Given the description of an element on the screen output the (x, y) to click on. 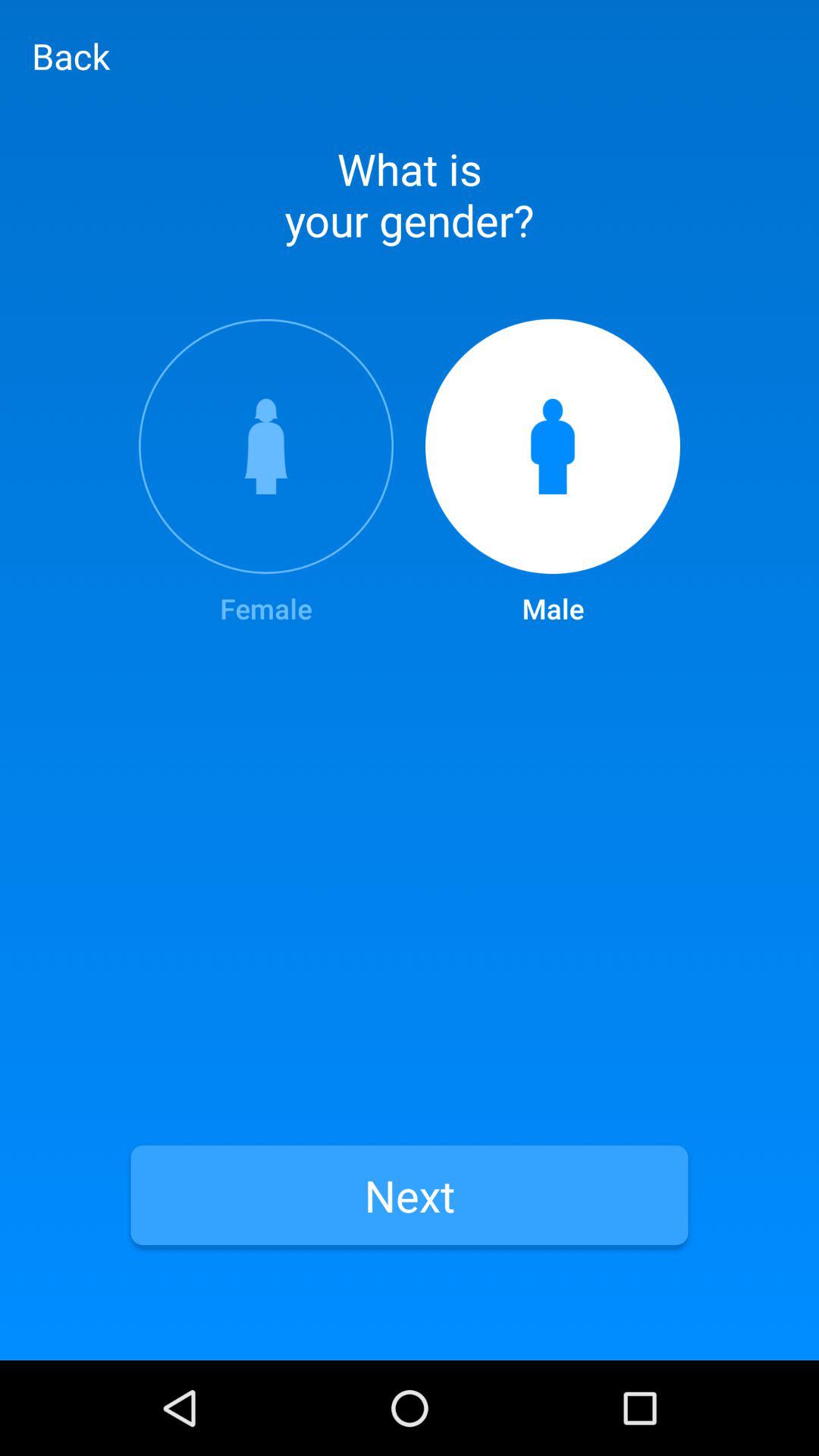
click icon to the left of male icon (265, 473)
